Given the description of an element on the screen output the (x, y) to click on. 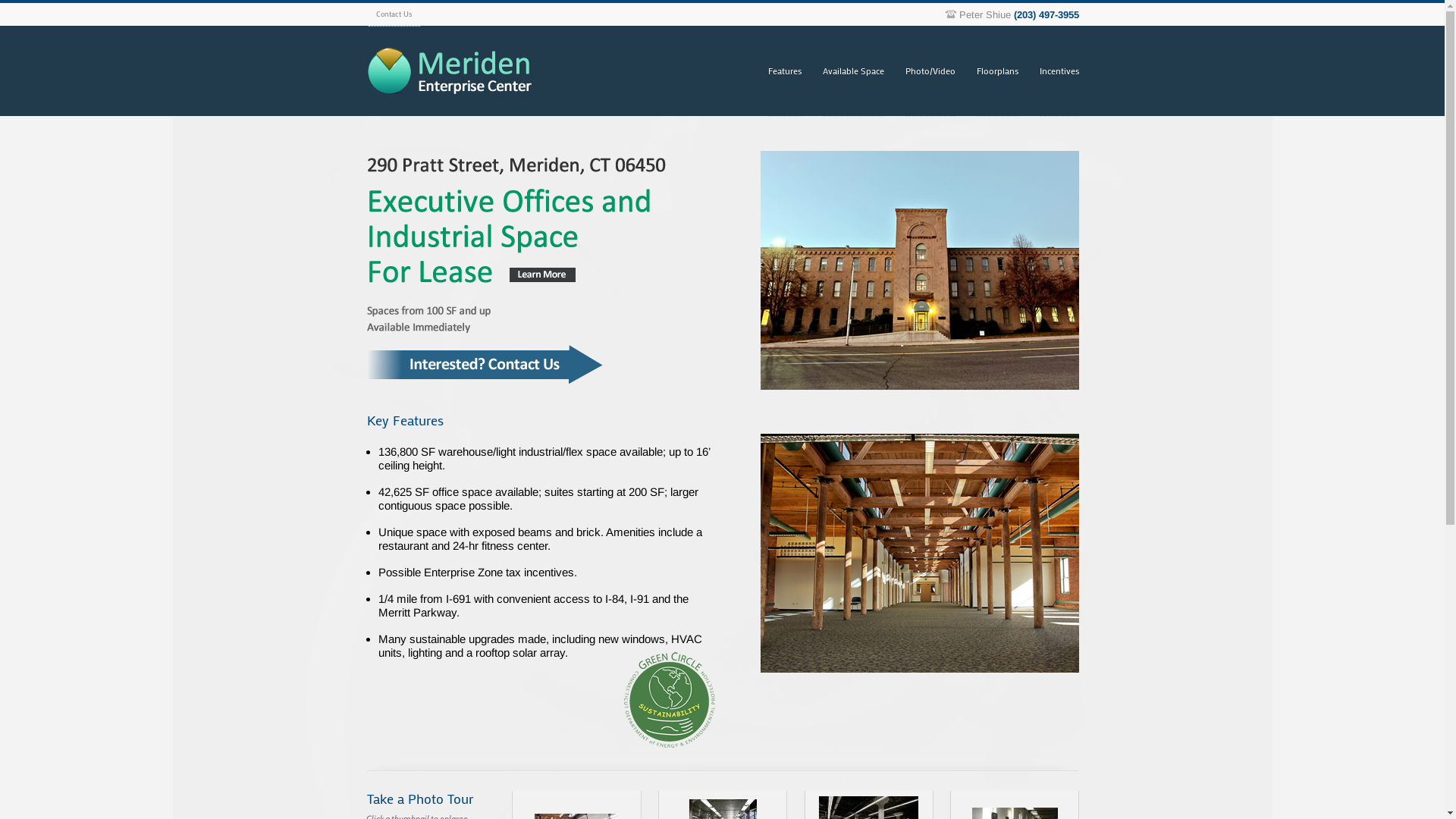
Contact Us Element type: text (394, 14)
Skip to content Element type: text (593, 25)
Photo/Video Element type: text (930, 70)
Floorplans Element type: text (997, 70)
Incentives Element type: text (1058, 70)
Available Space Element type: text (852, 70)
Features Element type: text (783, 70)
